Given the description of an element on the screen output the (x, y) to click on. 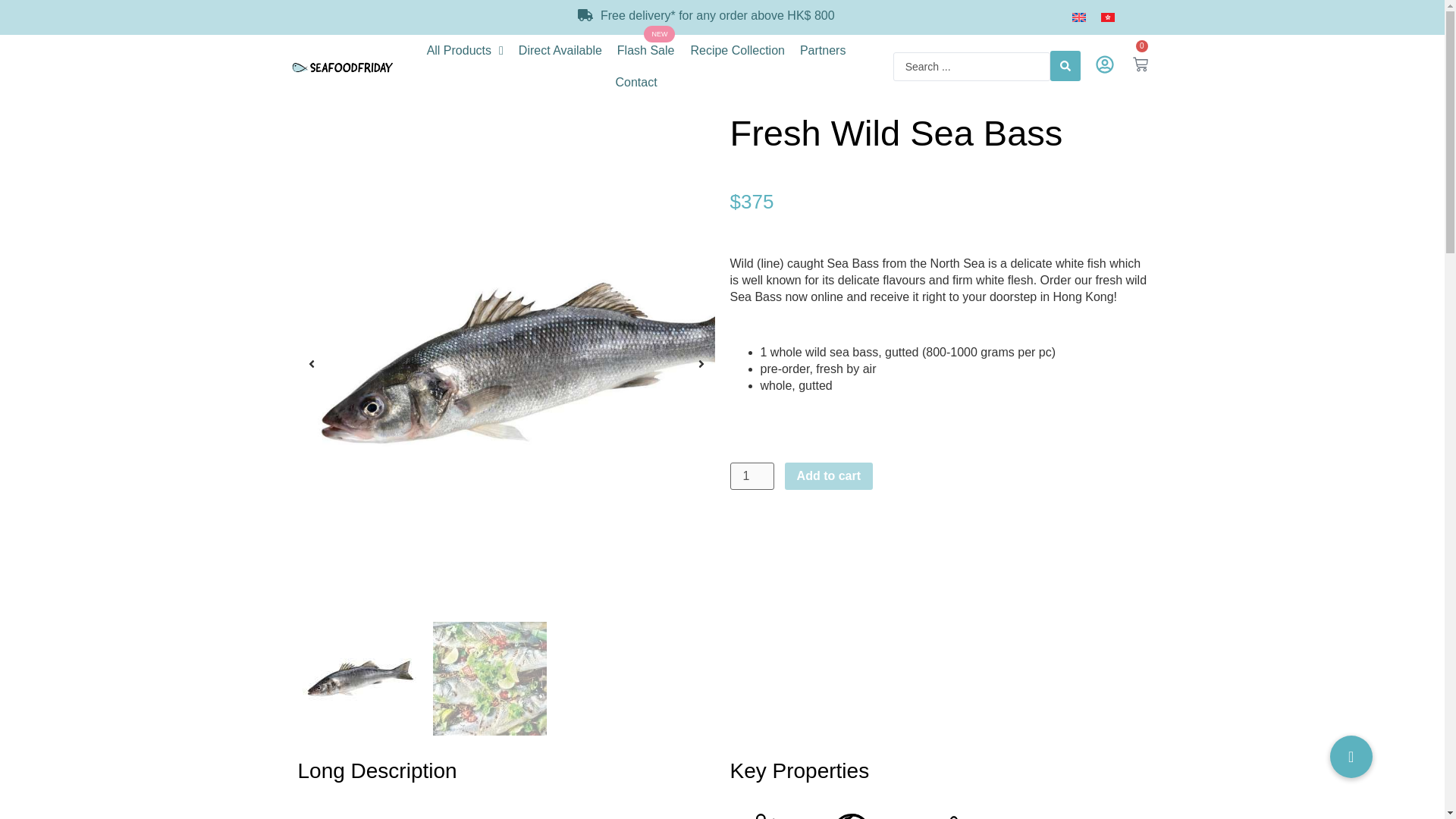
fresh prepared wild sea bass (489, 678)
1 (751, 475)
All Products (465, 50)
Fresh Wild Sea Bass (359, 678)
